Given the description of an element on the screen output the (x, y) to click on. 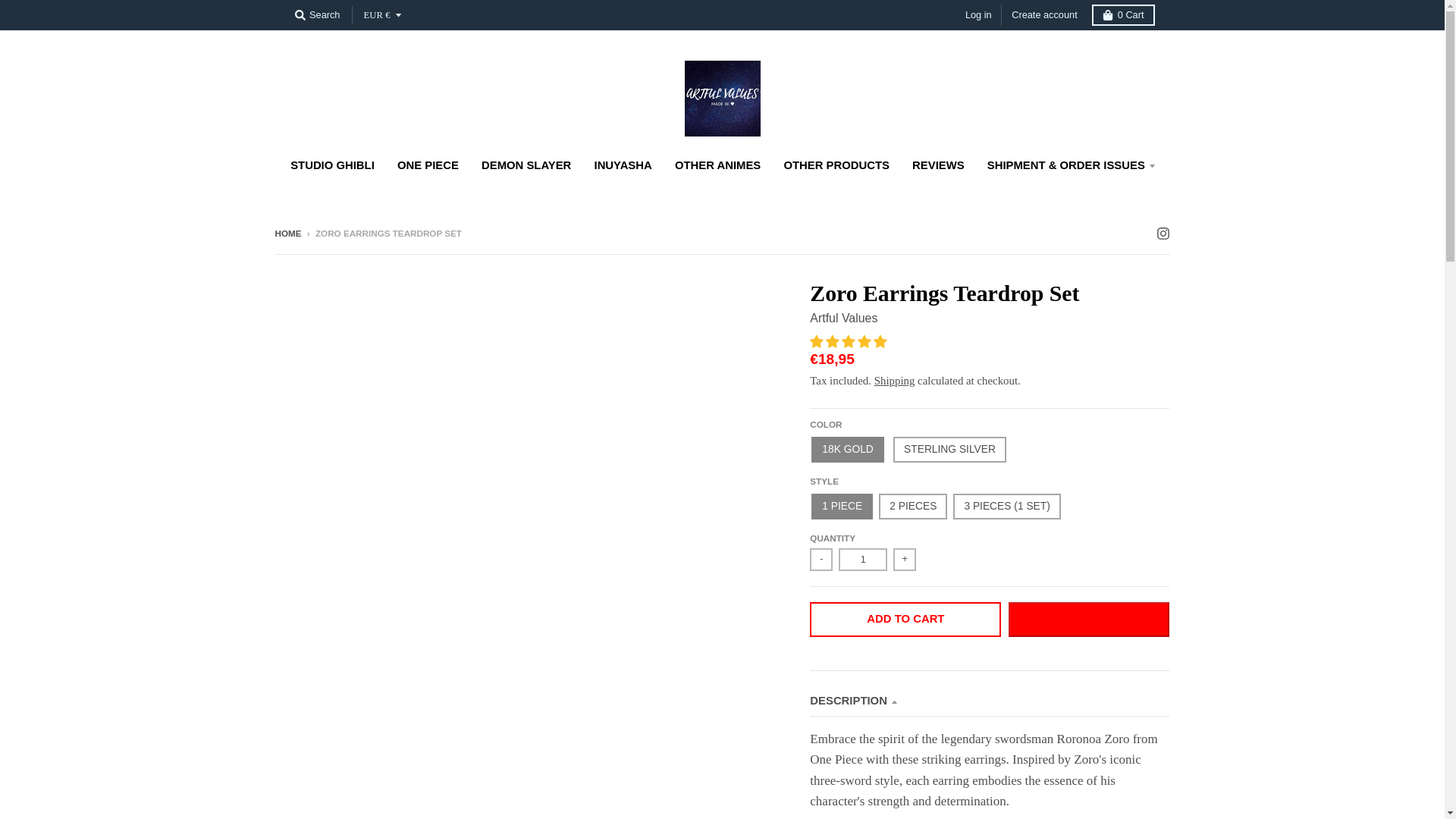
18k Gold (846, 449)
1 (862, 558)
1 Piece (841, 506)
Back to the frontpage (288, 233)
Search (316, 14)
Artful Values (843, 318)
Instagram - Artful Values (1162, 232)
Sterling Silver (949, 449)
2 Pieces (913, 506)
